Given the description of an element on the screen output the (x, y) to click on. 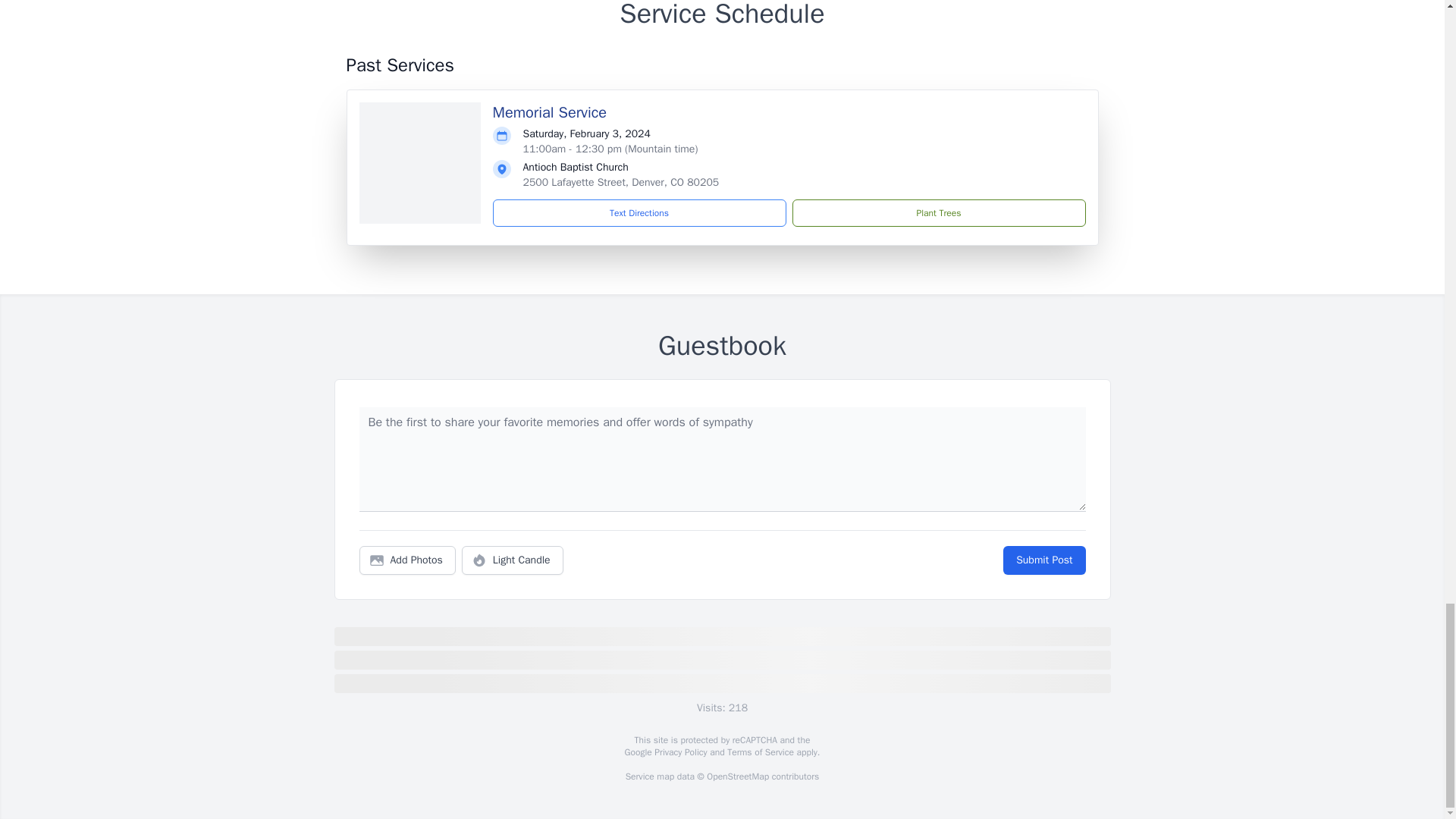
Submit Post (1043, 560)
Plant Trees (938, 212)
Text Directions (639, 212)
2500 Lafayette Street, Denver, CO 80205 (620, 182)
Light Candle (512, 560)
Add Photos (407, 560)
OpenStreetMap (737, 776)
Privacy Policy (679, 752)
Terms of Service (759, 752)
